Given the description of an element on the screen output the (x, y) to click on. 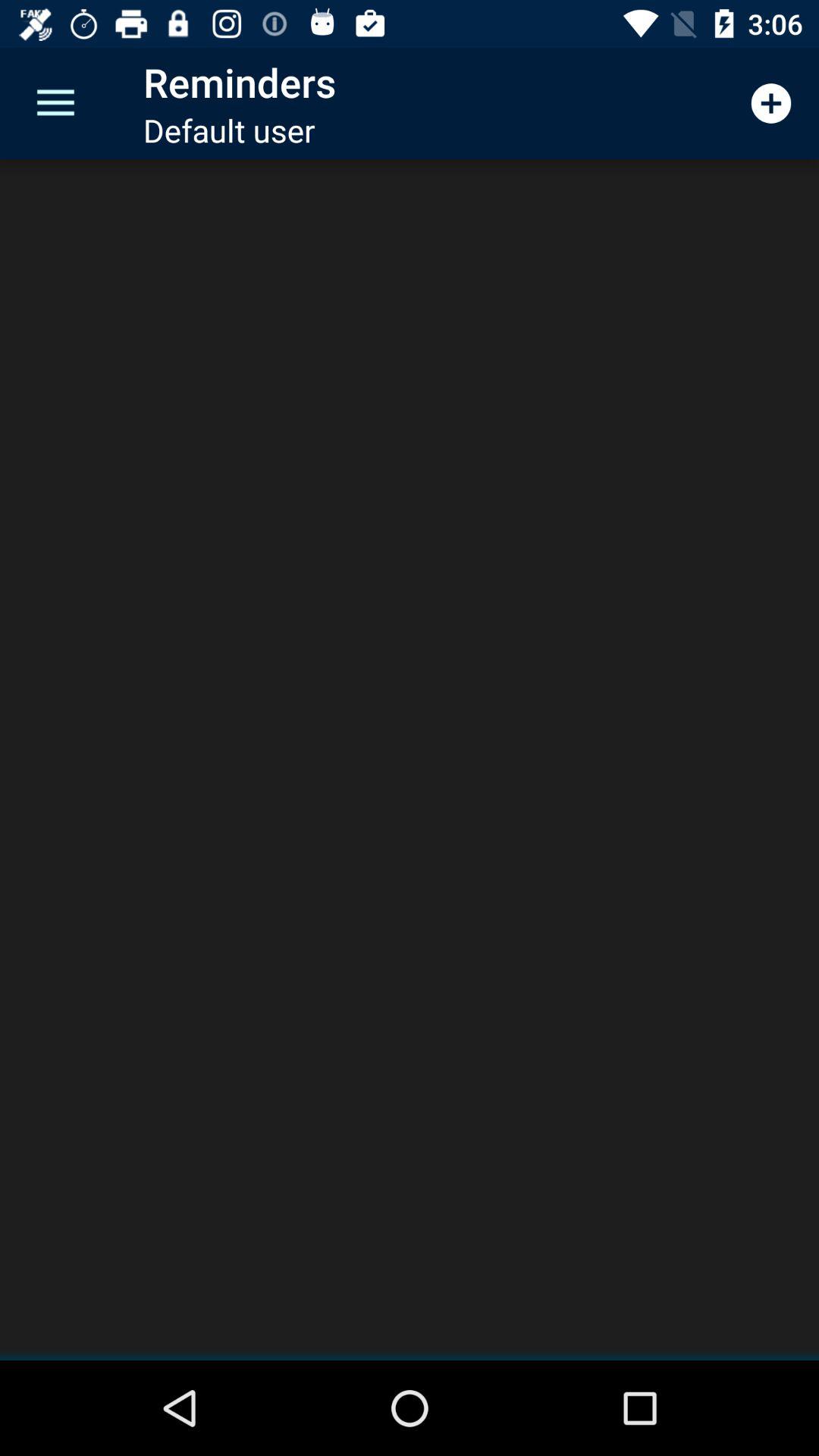
select icon at the top right corner (771, 103)
